Given the description of an element on the screen output the (x, y) to click on. 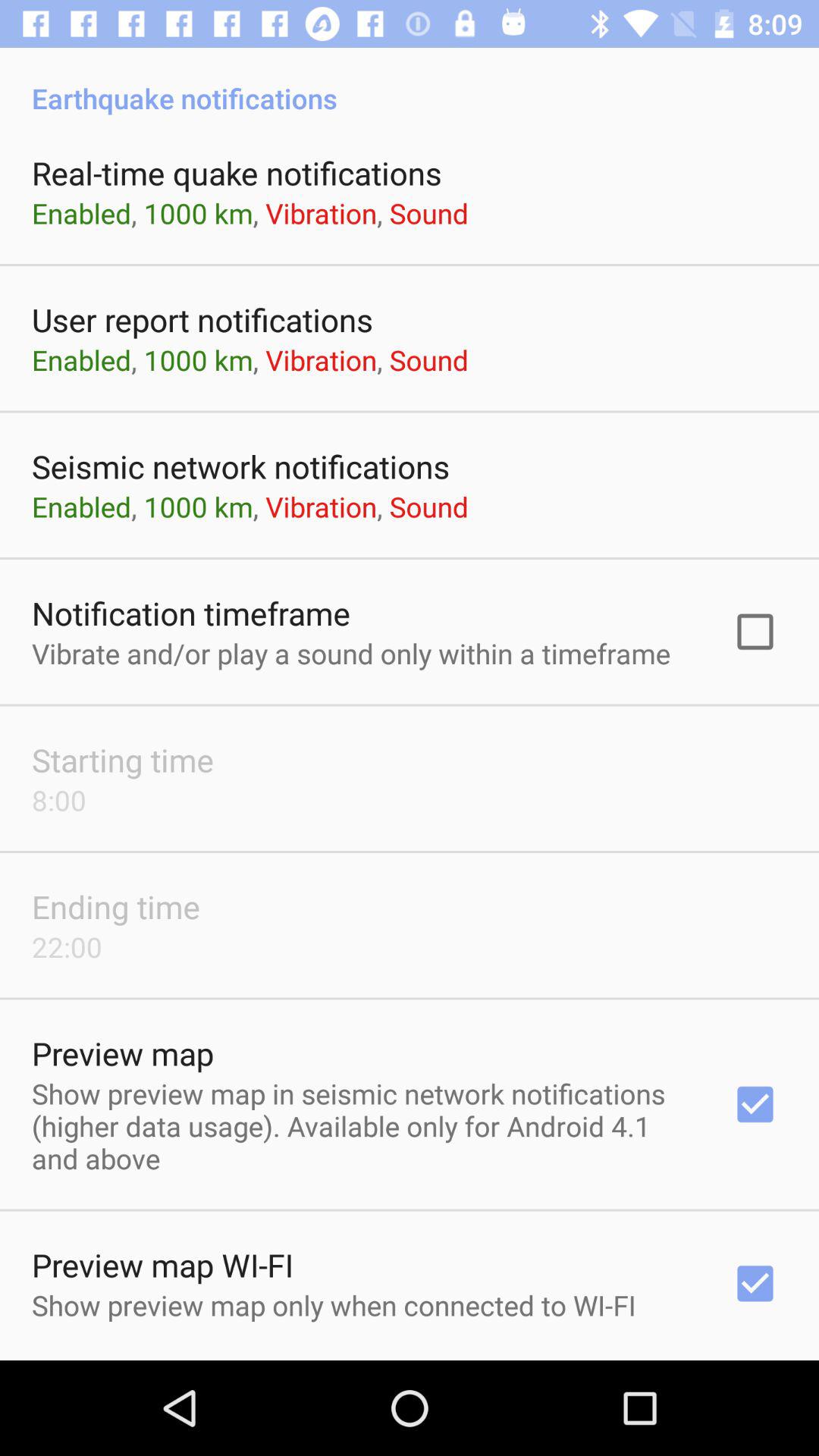
click the item below enabled 1000 km app (202, 319)
